Given the description of an element on the screen output the (x, y) to click on. 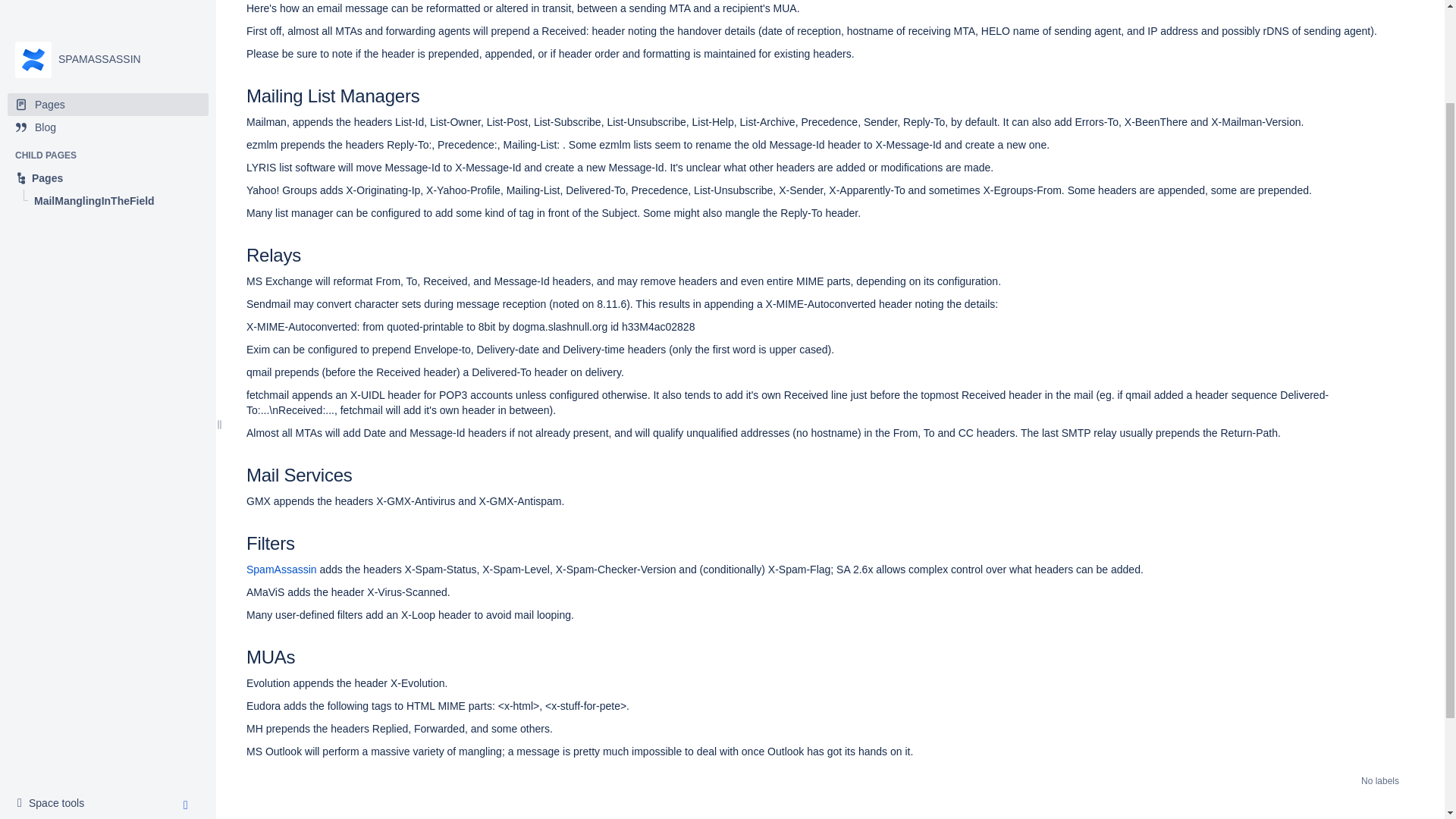
Pages (107, 56)
Pages (54, 681)
Blog (107, 56)
